Given the description of an element on the screen output the (x, y) to click on. 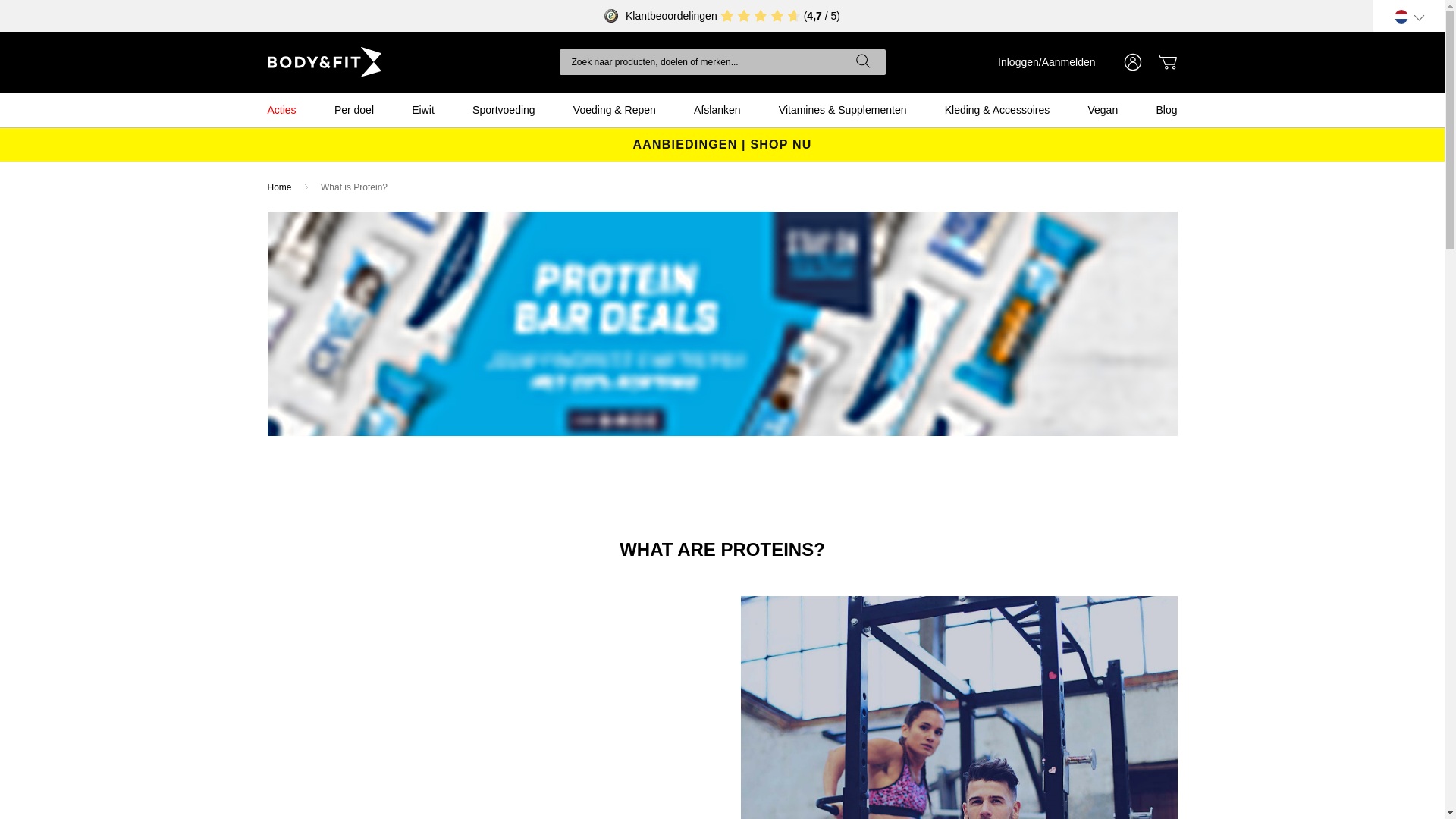
Acties (280, 109)
Acties (280, 109)
